Given the description of an element on the screen output the (x, y) to click on. 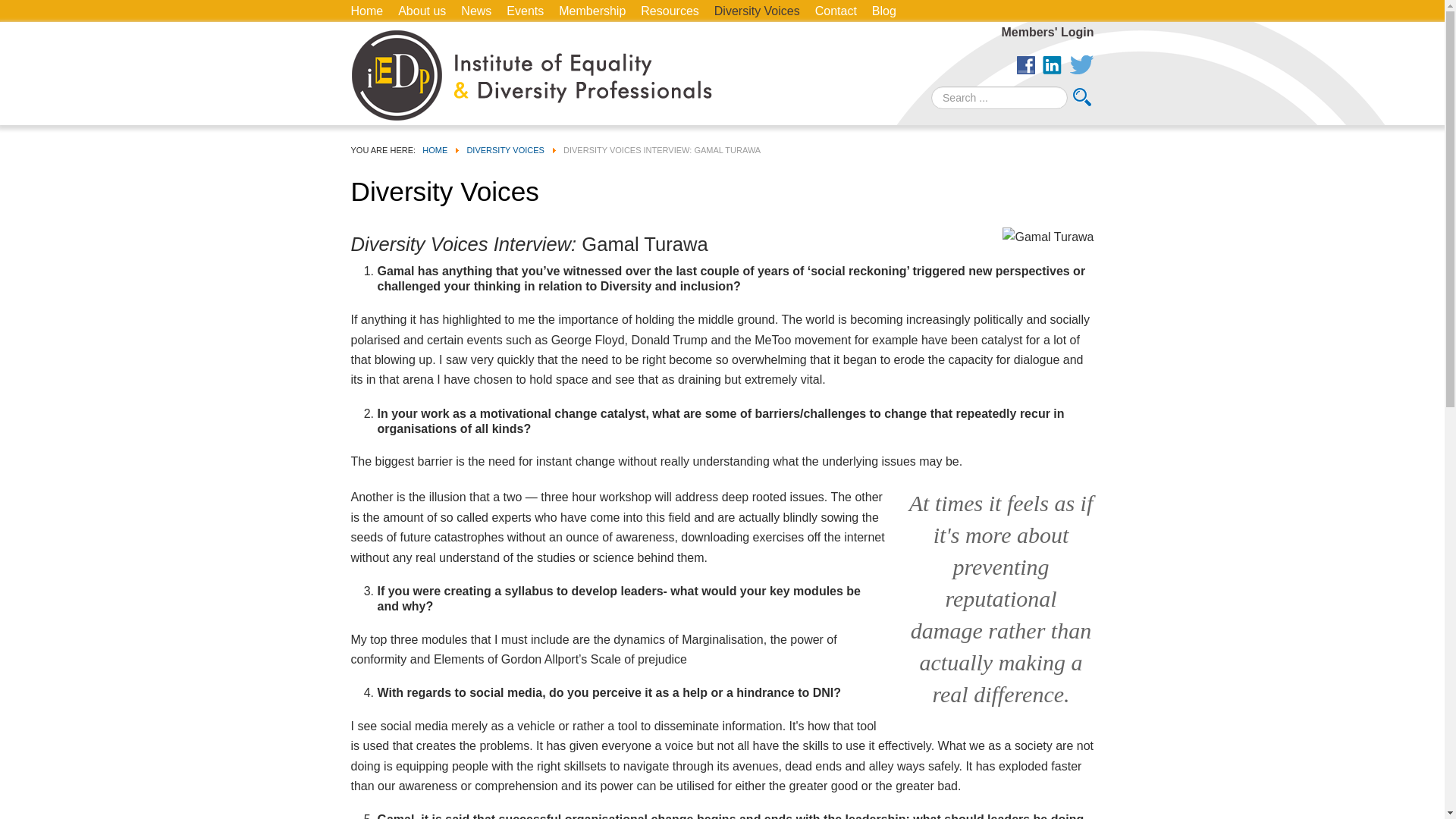
Blog (884, 10)
Diversity Voices (756, 10)
Join us on Facebook (1025, 64)
Contact (836, 10)
DIVERSITY VOICES (504, 149)
Follow IEDP on Twitter (1080, 64)
Events (524, 10)
Resources (669, 10)
About us (421, 10)
News (476, 10)
Home (366, 10)
Membership (592, 10)
HOME (434, 149)
Members' Login (1041, 31)
Join our network on LinkedIn (1051, 64)
